Given the description of an element on the screen output the (x, y) to click on. 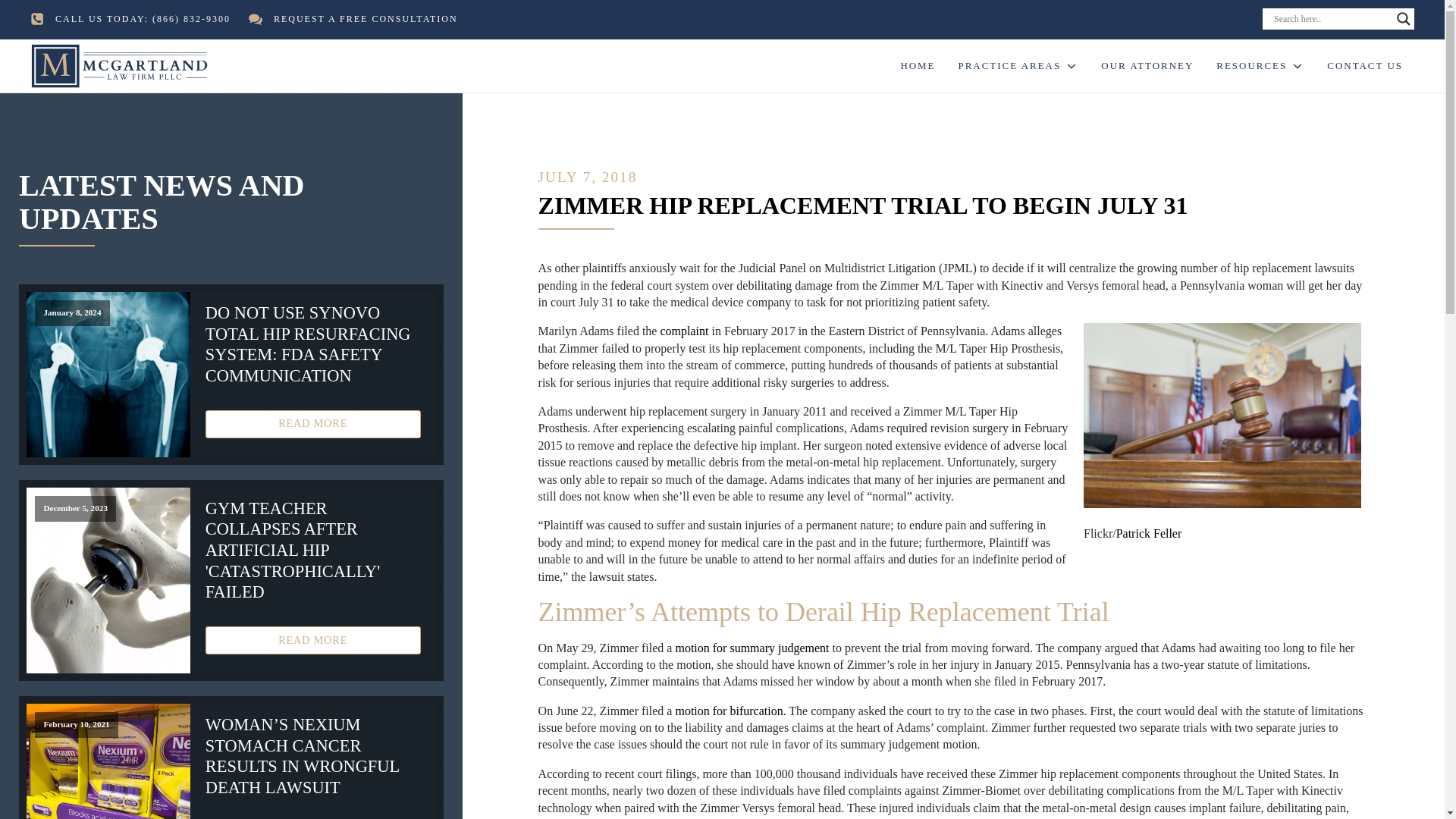
REQUEST A FREE CONSULTATION (365, 19)
